Given the description of an element on the screen output the (x, y) to click on. 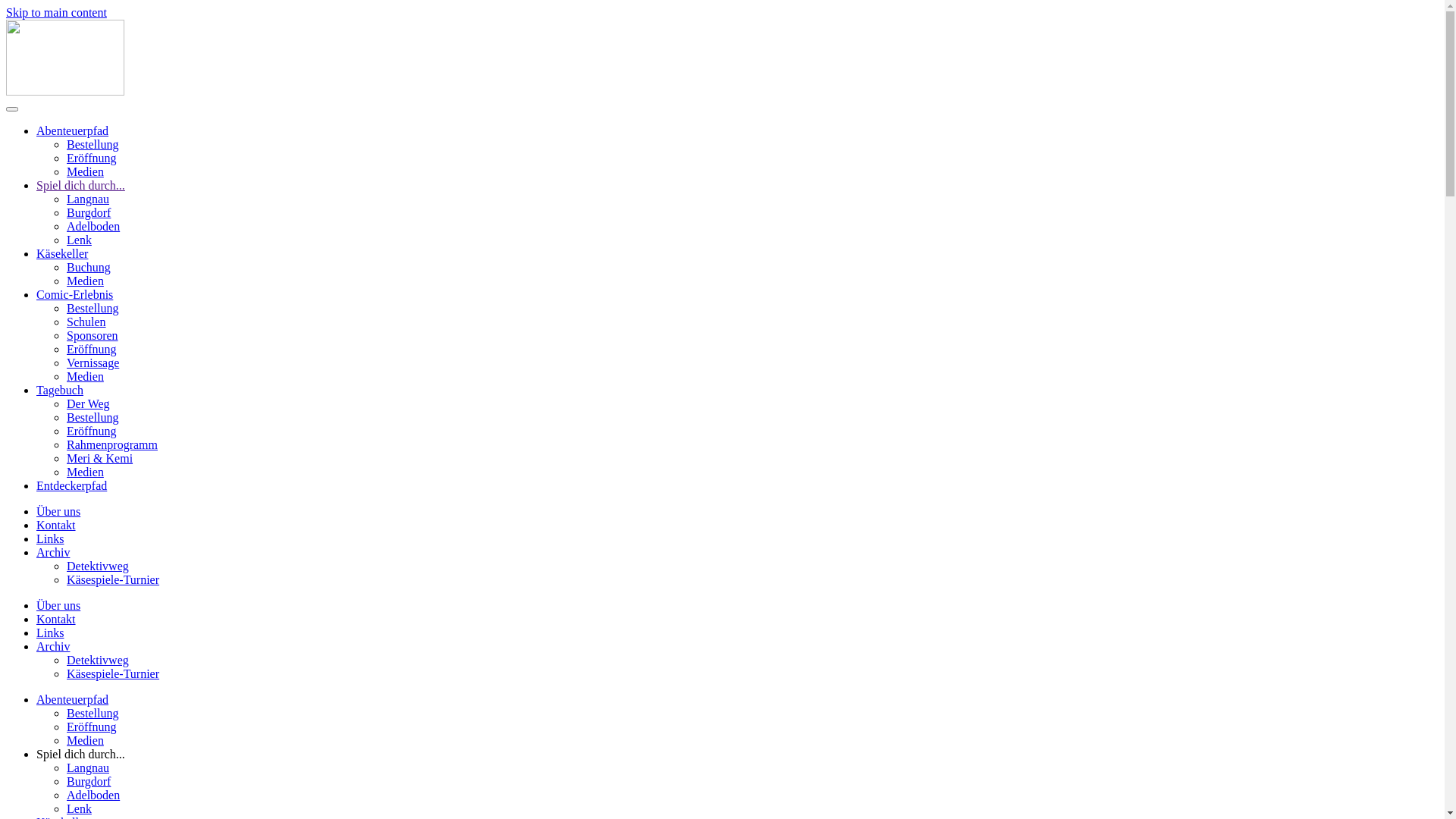
Adelboden Element type: text (92, 225)
Rahmenprogramm Element type: text (111, 444)
Sponsoren Element type: text (92, 335)
Schulen Element type: text (86, 321)
Medien Element type: text (84, 471)
Abenteuerpfad Element type: text (72, 130)
Bestellung Element type: text (92, 417)
Medien Element type: text (84, 280)
Bestellung Element type: text (92, 307)
Lenk Element type: text (78, 808)
Burgdorf Element type: text (88, 781)
Buchung Element type: text (88, 266)
Burgdorf Element type: text (88, 212)
Meri & Kemi Element type: text (99, 457)
Detektivweg Element type: text (97, 565)
Links Element type: text (49, 538)
Entdeckerpfad Element type: text (71, 485)
Vernissage Element type: text (92, 362)
Langnau Element type: text (87, 767)
Spiel dich durch... Element type: text (80, 753)
Archiv Element type: text (52, 552)
Medien Element type: text (84, 376)
Comic-Erlebnis Element type: text (74, 294)
Lenk Element type: text (78, 239)
Links Element type: text (49, 632)
Kontakt Element type: text (55, 618)
Archiv Element type: text (52, 646)
Tagebuch Element type: text (59, 389)
Langnau Element type: text (87, 198)
Bestellung Element type: text (92, 144)
Der Weg Element type: text (87, 403)
Bestellung Element type: text (92, 712)
Abenteuerpfad Element type: text (72, 699)
Kontakt Element type: text (55, 524)
Adelboden Element type: text (92, 794)
Medien Element type: text (84, 171)
Medien Element type: text (84, 740)
Spiel dich durch... Element type: text (80, 184)
Skip to main content Element type: text (56, 12)
Detektivweg Element type: text (97, 659)
